Given the description of an element on the screen output the (x, y) to click on. 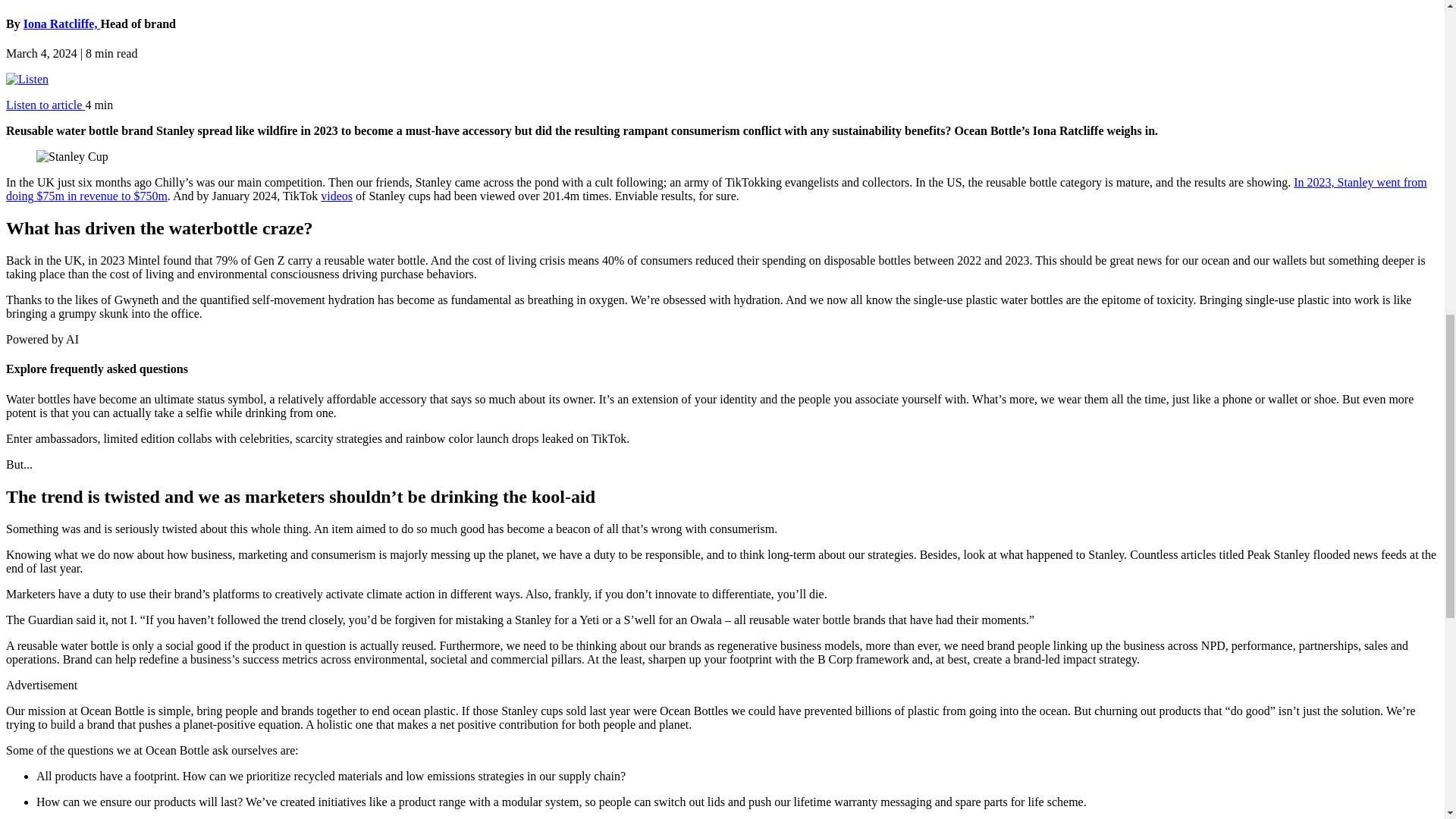
Stanley Cup (71, 156)
videos (336, 195)
Listen to article (44, 104)
Iona Ratcliffe, (61, 23)
